Given the description of an element on the screen output the (x, y) to click on. 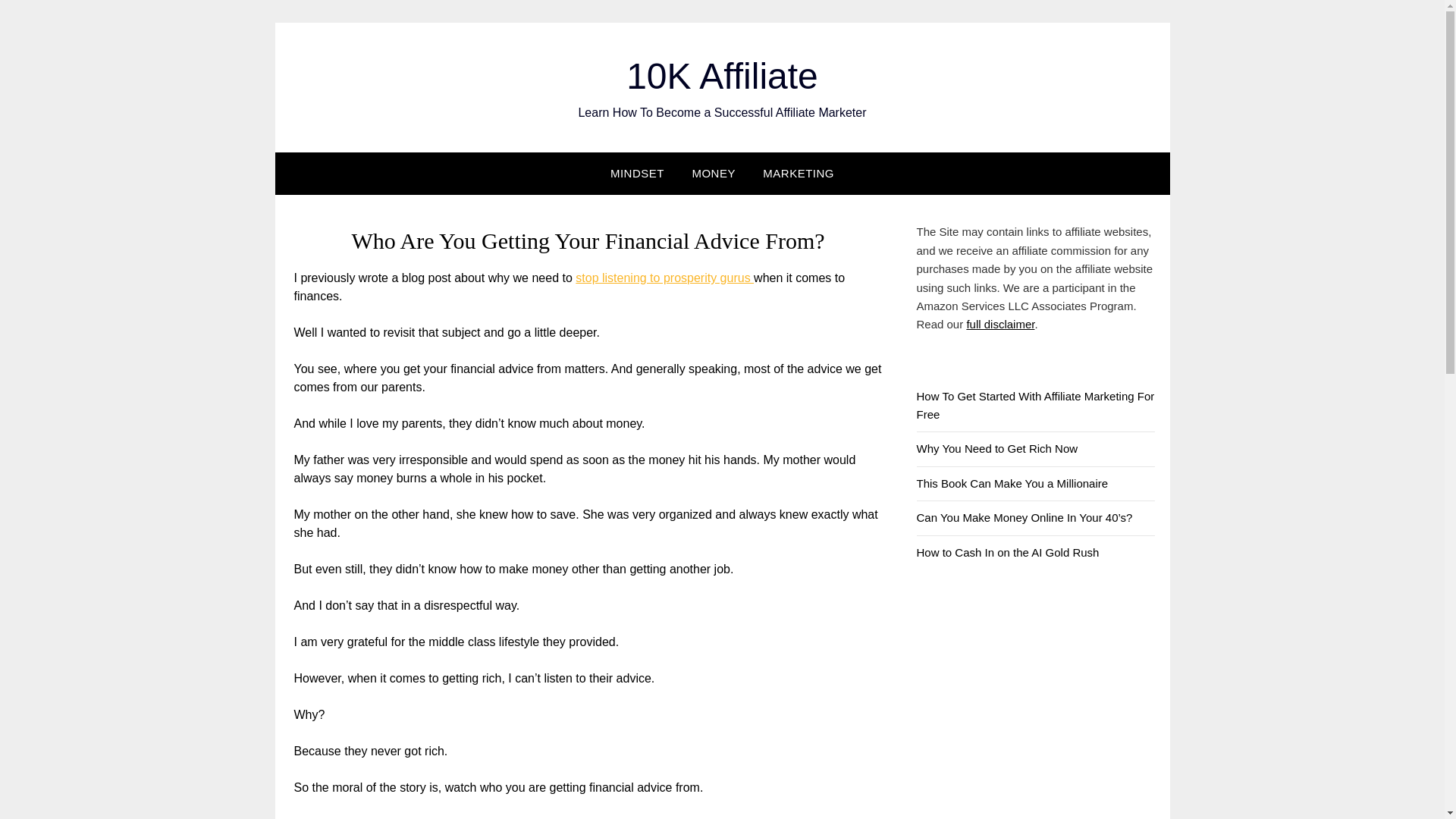
MARKETING (798, 173)
10K Affiliate (722, 76)
MONEY (713, 173)
MINDSET (637, 173)
This Book Can Make You a Millionaire (1011, 482)
stop listening to prosperity gurus (664, 277)
Why You Need to Get Rich Now (996, 448)
How to Cash In on the AI Gold Rush (1007, 552)
full disclaimer (999, 323)
How To Get Started With Affiliate Marketing For Free (1034, 404)
